Given the description of an element on the screen output the (x, y) to click on. 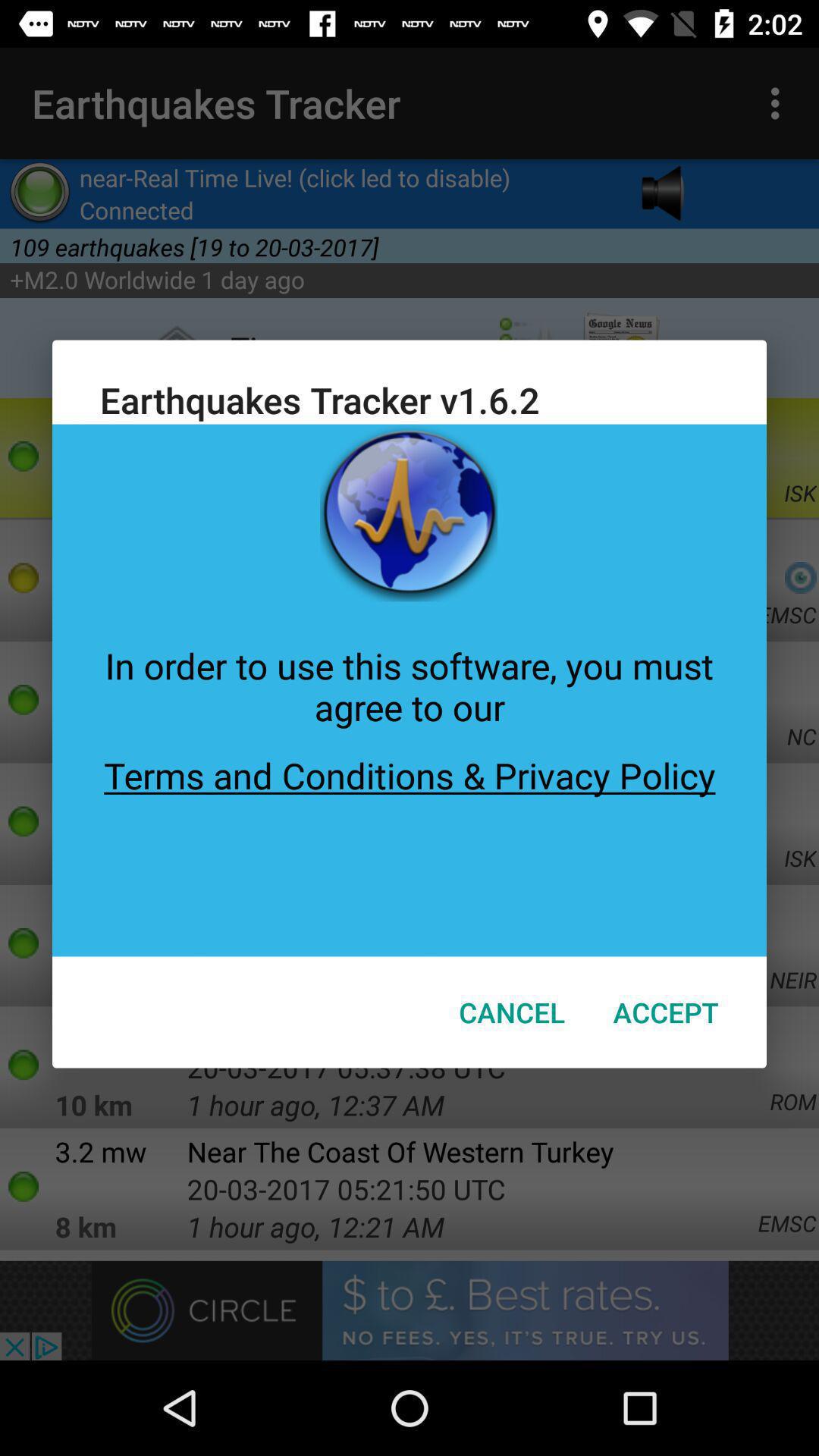
press item below in order to item (409, 843)
